Given the description of an element on the screen output the (x, y) to click on. 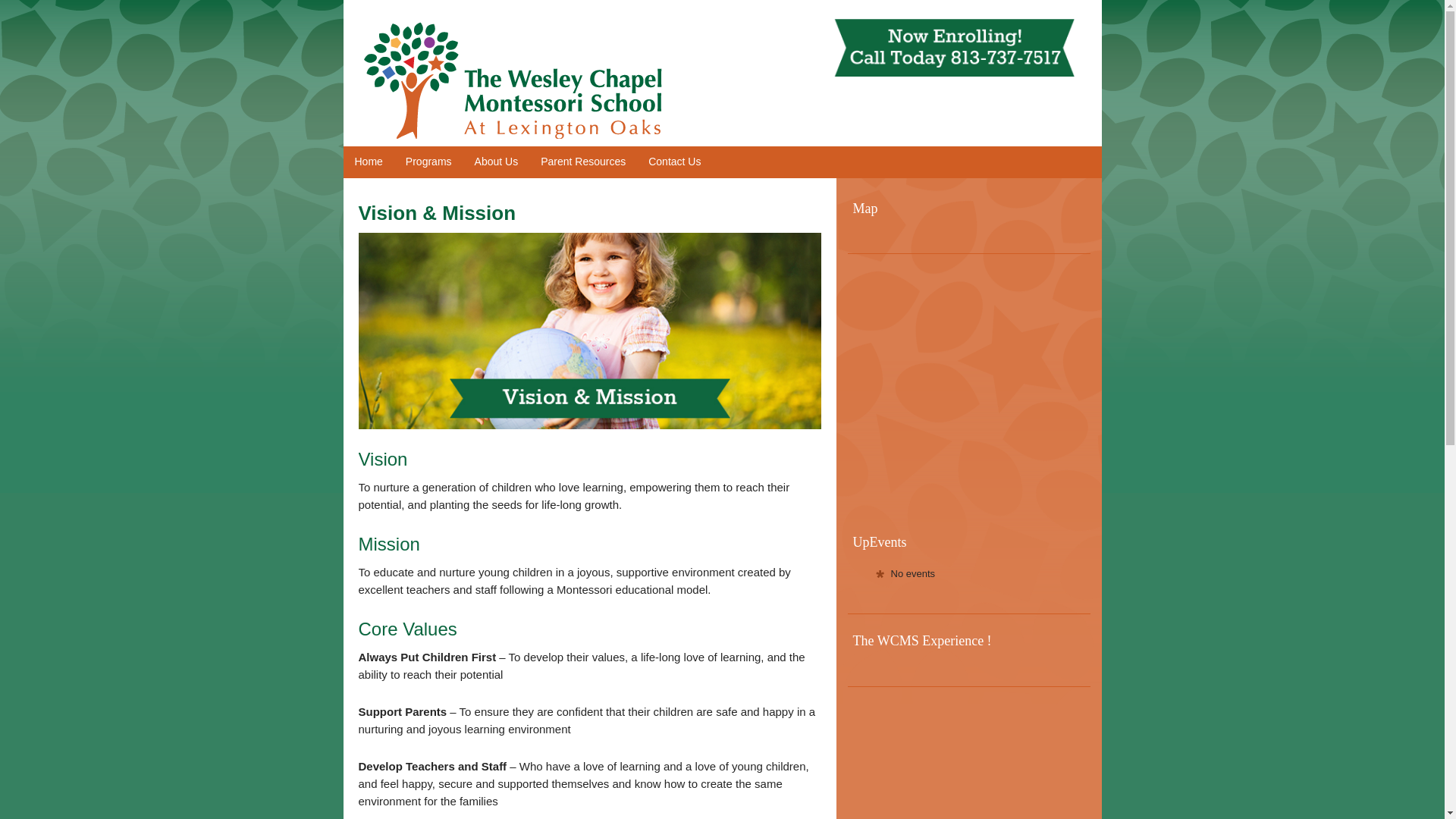
The Wesley Chapel Montessori at Lexington Oaks (521, 87)
About Us (496, 162)
Parent Resources (583, 162)
Home (367, 162)
Contact Us (674, 162)
Programs (428, 162)
